Given the description of an element on the screen output the (x, y) to click on. 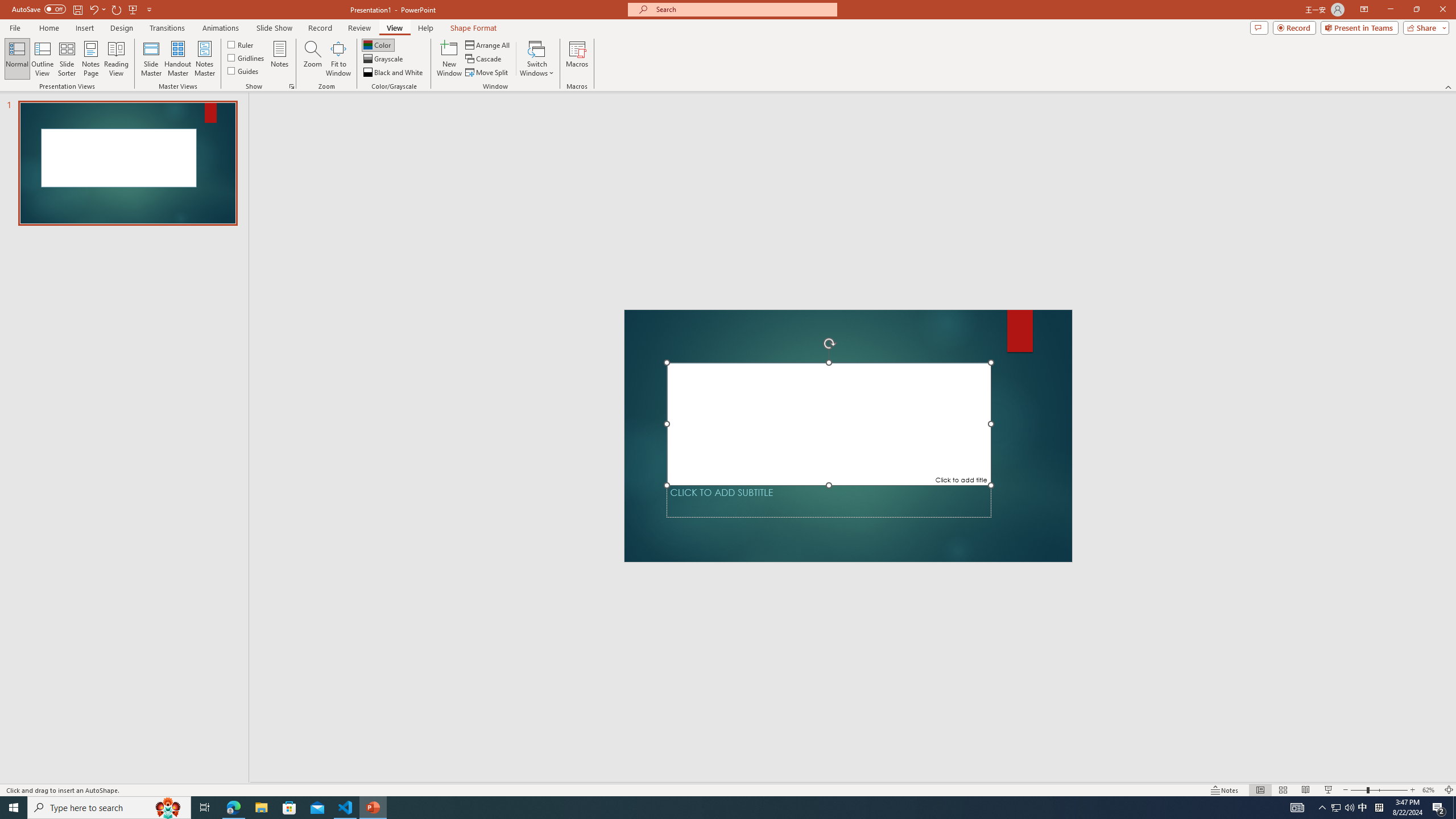
Black and White (393, 72)
Arrange All (488, 44)
Cascade (484, 58)
Macros (576, 58)
Notes Page (90, 58)
